Given the description of an element on the screen output the (x, y) to click on. 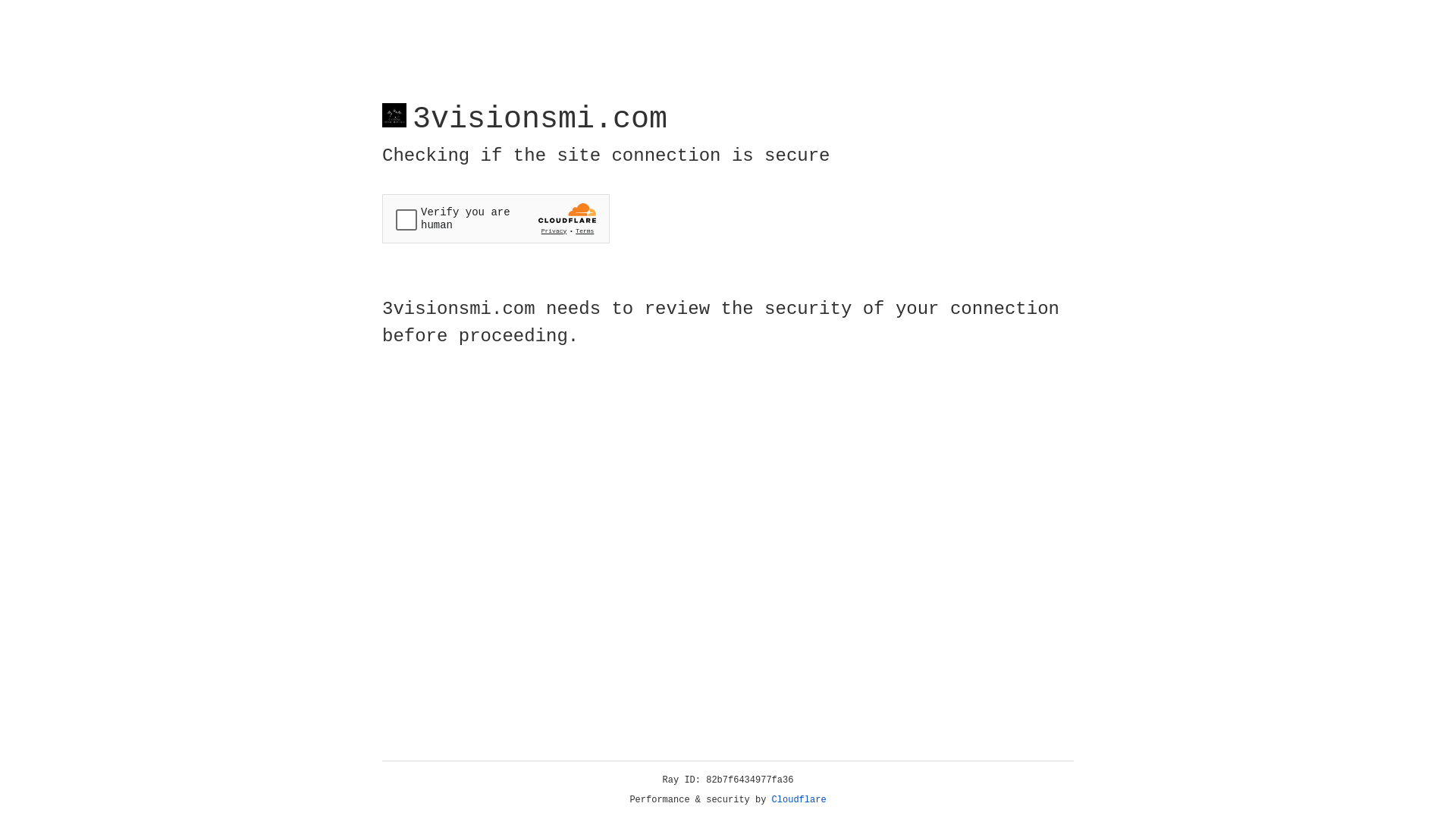
Widget containing a Cloudflare security challenge Element type: hover (495, 218)
Cloudflare Element type: text (798, 799)
